Given the description of an element on the screen output the (x, y) to click on. 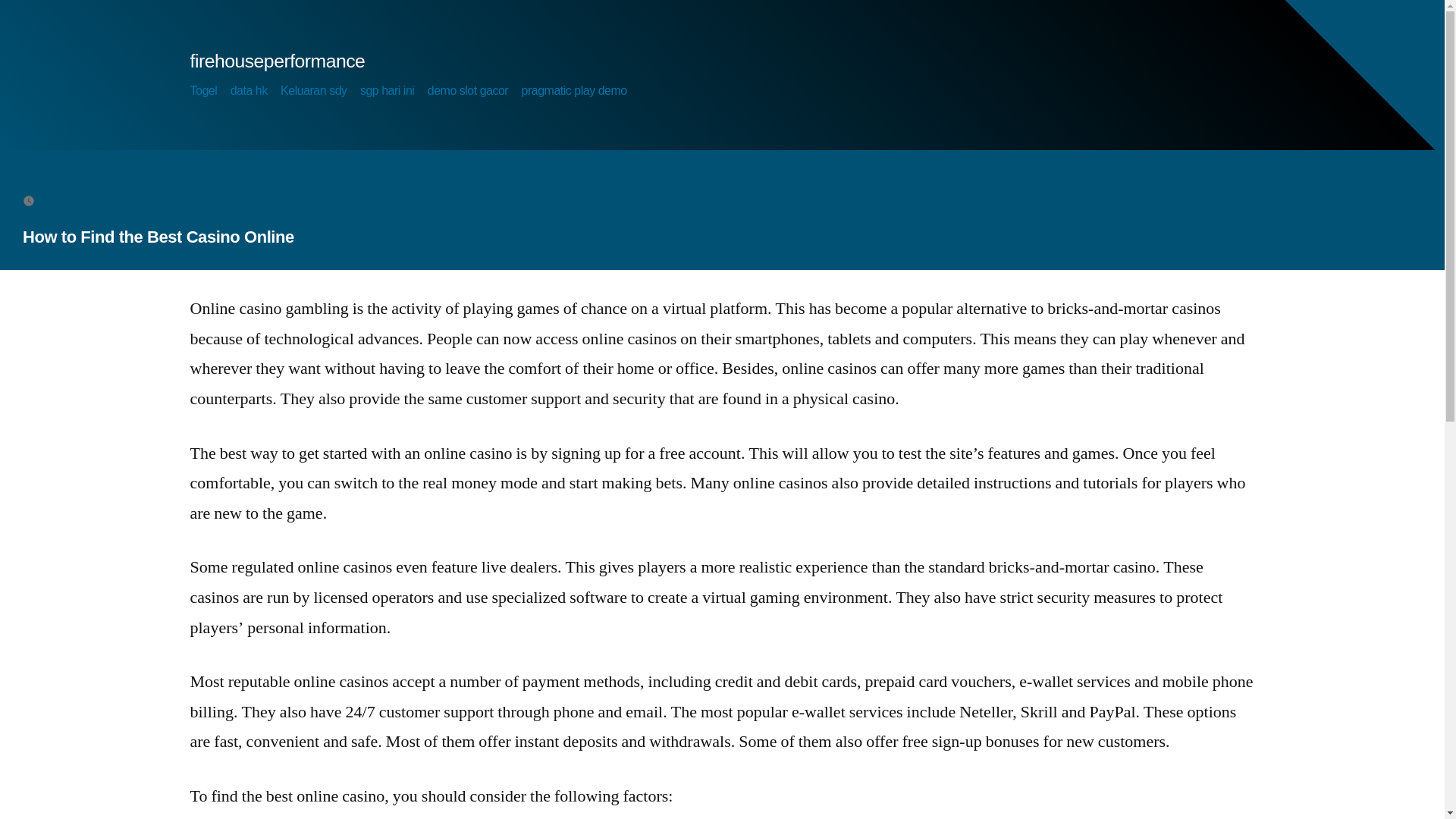
Togel (202, 90)
April 3, 2024 (73, 199)
pragmatic play demo (574, 90)
Keluaran sdy (313, 90)
sgp hari ini (386, 90)
data hk (248, 90)
firehouseperformance (277, 60)
demo slot gacor (468, 90)
